Given the description of an element on the screen output the (x, y) to click on. 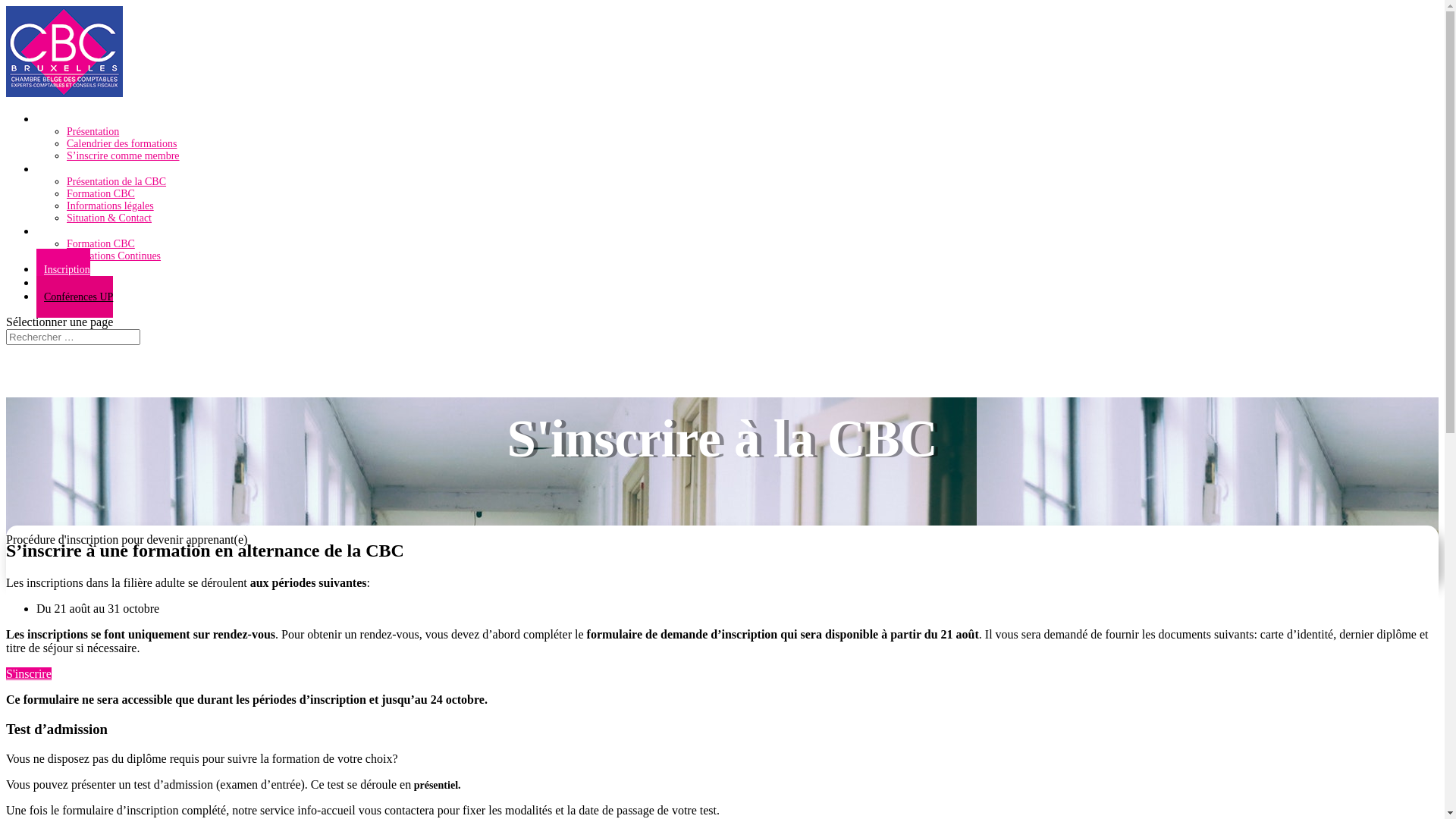
Inscription Element type: text (63, 269)
Formation CBC Element type: text (100, 243)
La Chambre Belge des Comptables Element type: text (116, 169)
S'inscrire Element type: text (28, 673)
Formations Element type: text (66, 231)
Formations Continues Element type: text (113, 255)
Calendrier des formations Element type: text (121, 143)
Rechercher: Element type: hover (73, 337)
Contact Element type: text (56, 283)
Formation CBC Element type: text (100, 193)
Situation & Contact Element type: text (108, 217)
